Given the description of an element on the screen output the (x, y) to click on. 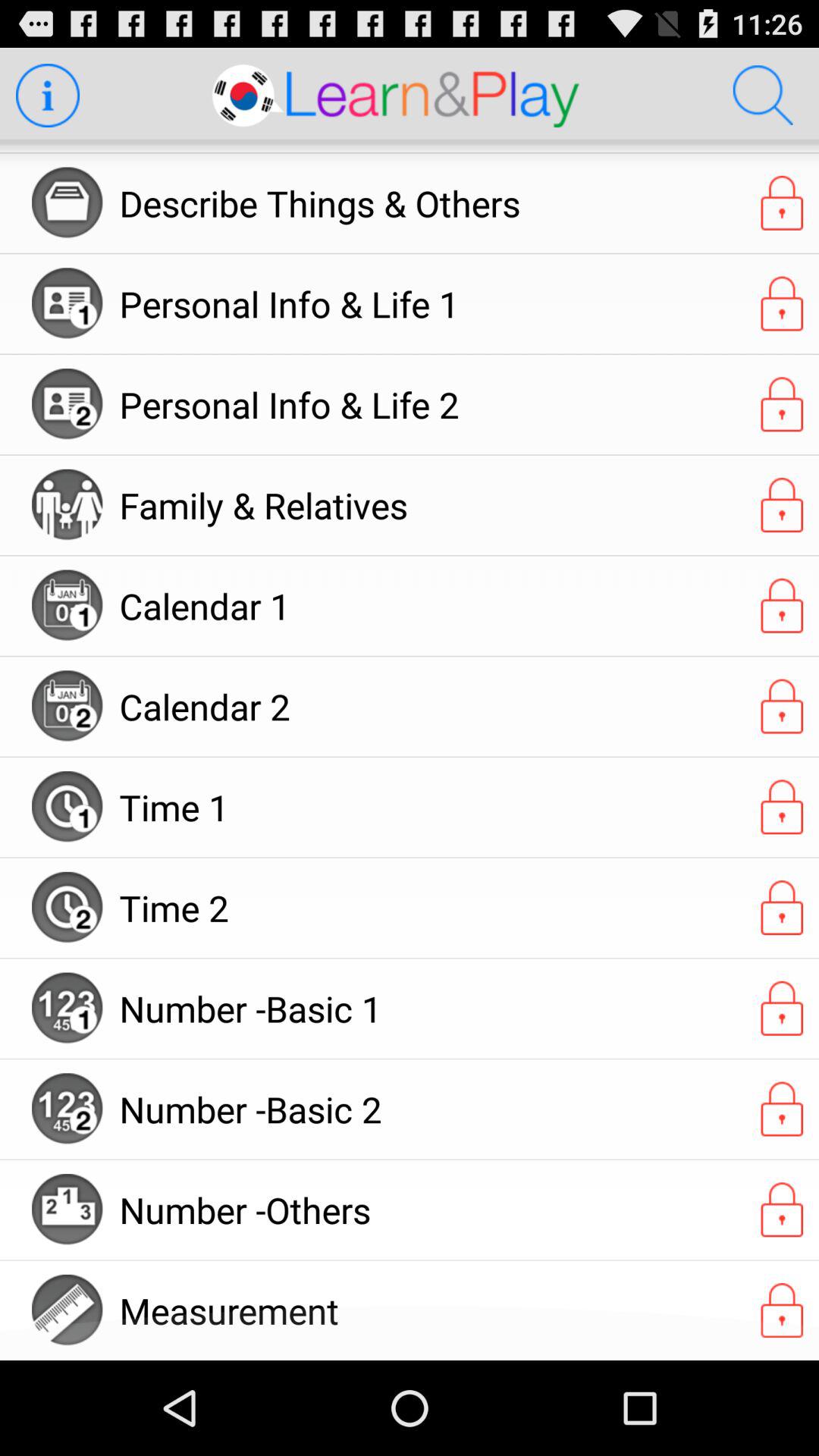
get information (47, 95)
